Given the description of an element on the screen output the (x, y) to click on. 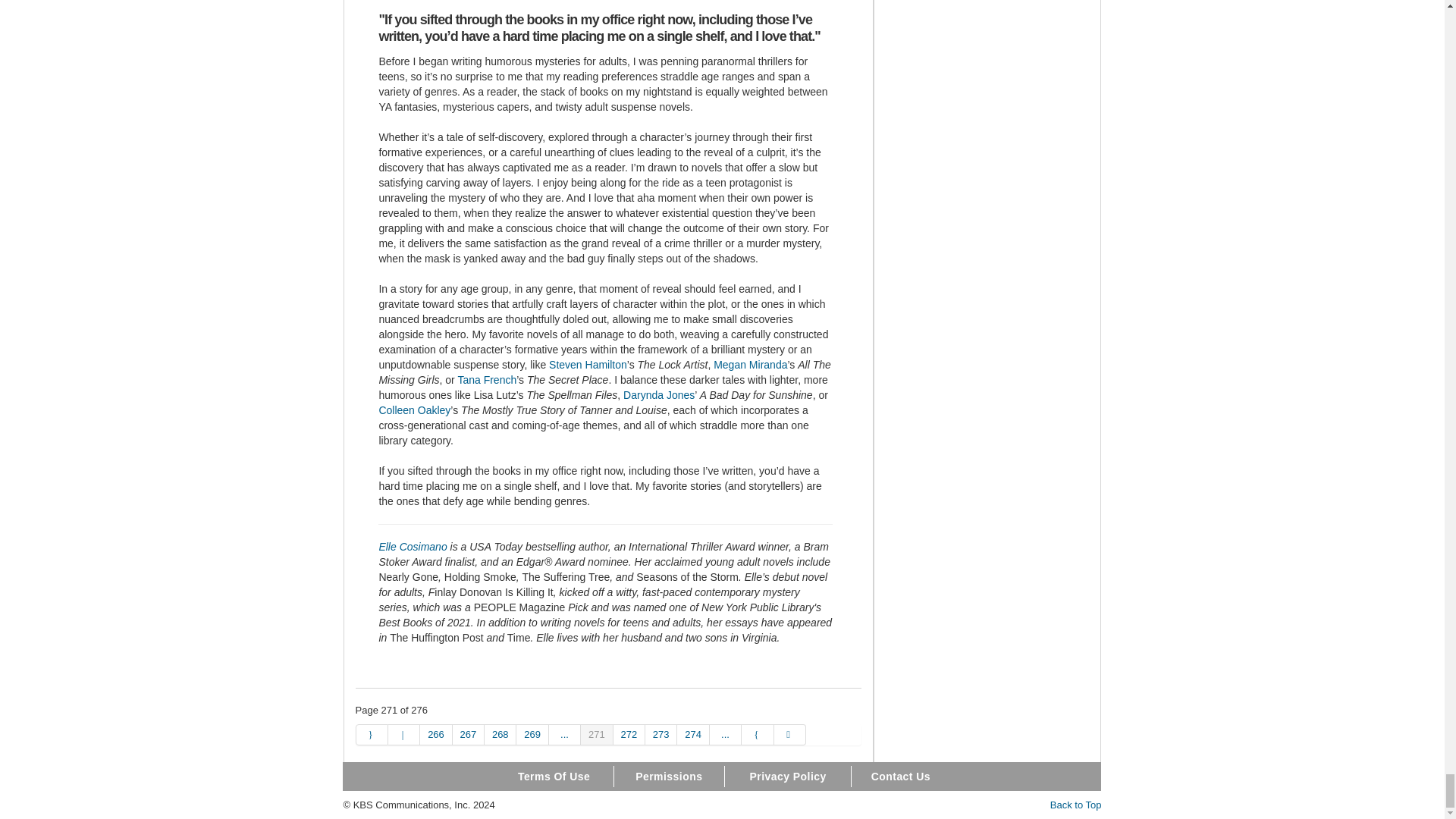
Start (371, 734)
Steven Hamilton (587, 364)
272 (628, 734)
273 (661, 734)
269 (532, 734)
266 (435, 734)
267 (468, 734)
Prev (404, 734)
270 (564, 734)
268 (500, 734)
